Given the description of an element on the screen output the (x, y) to click on. 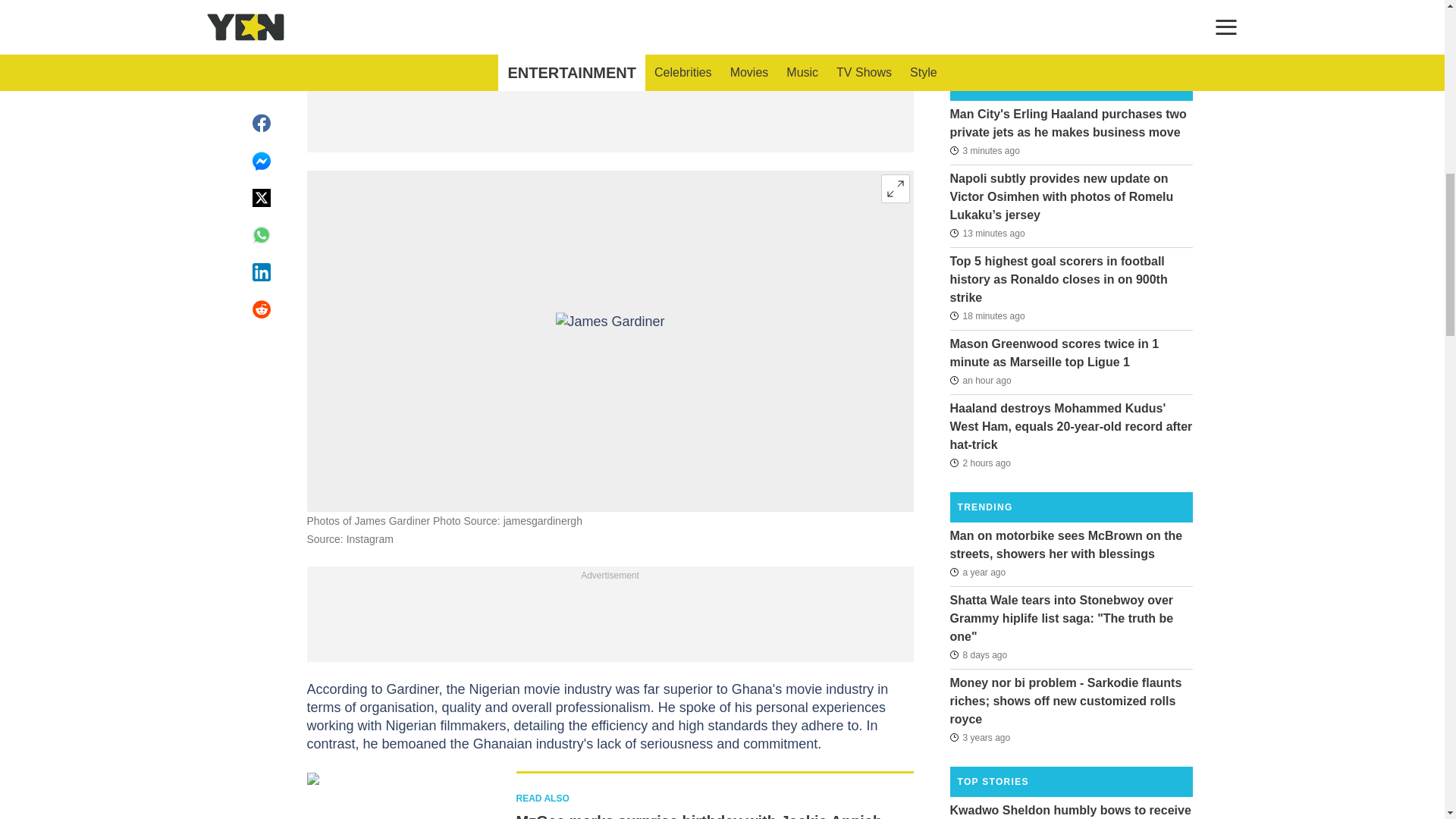
2024-09-01T08:19:02Z (987, 315)
2024-09-01T08:24:17Z (987, 233)
2024-08-23T17:08:19Z (978, 655)
Expand image (895, 188)
James Gardiner (608, 341)
2024-09-01T07:19:43Z (979, 380)
2023-04-13T15:31:15Z (977, 571)
2024-09-01T08:34:23Z (984, 149)
2024-09-01T06:12:36Z (979, 462)
2020-10-13T09:16:25Z (979, 737)
